Given the description of an element on the screen output the (x, y) to click on. 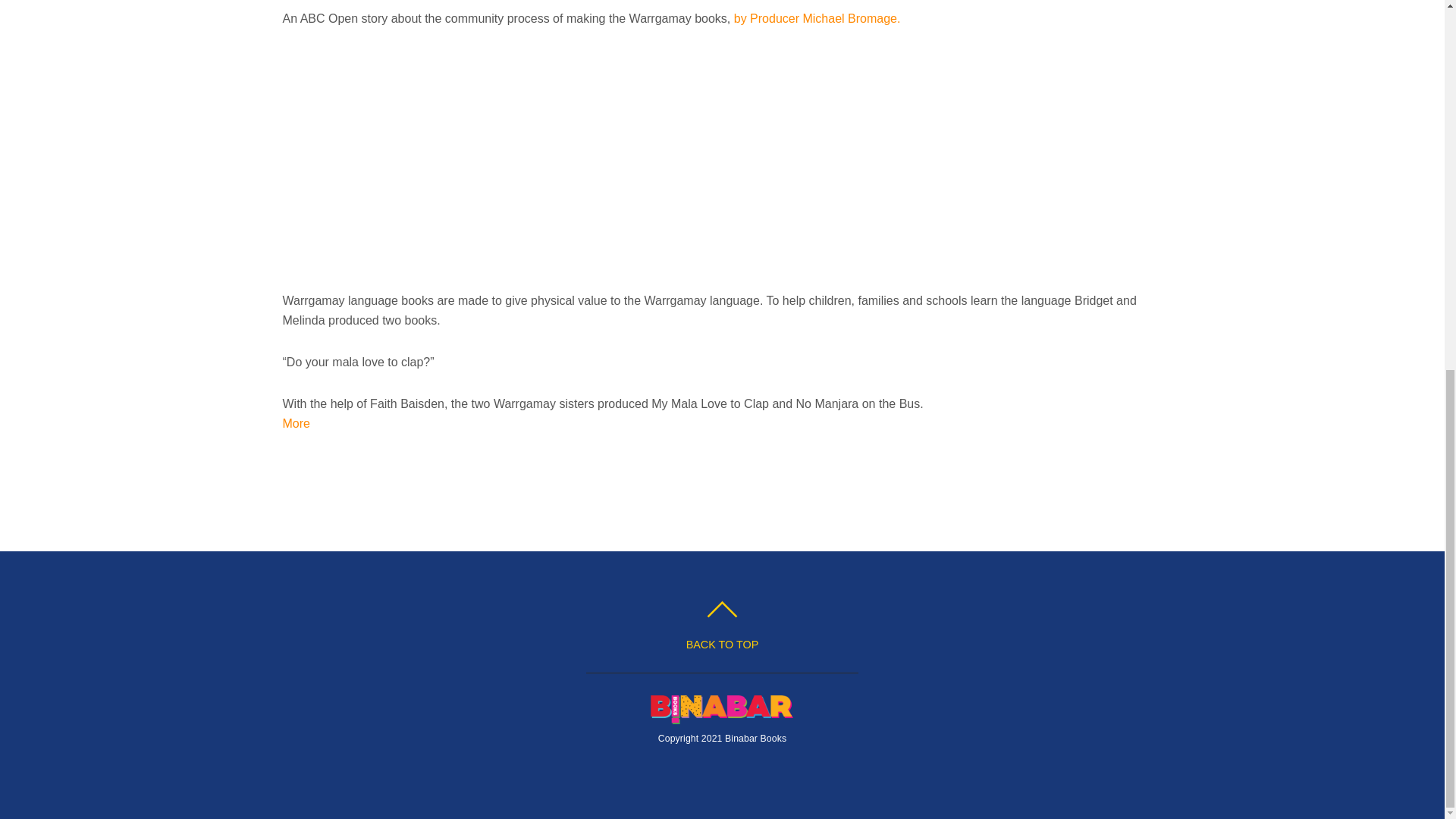
More (295, 422)
BACK TO TOP (721, 626)
by Producer Michael Bromage. (817, 18)
ABC Open  (817, 18)
